Given the description of an element on the screen output the (x, y) to click on. 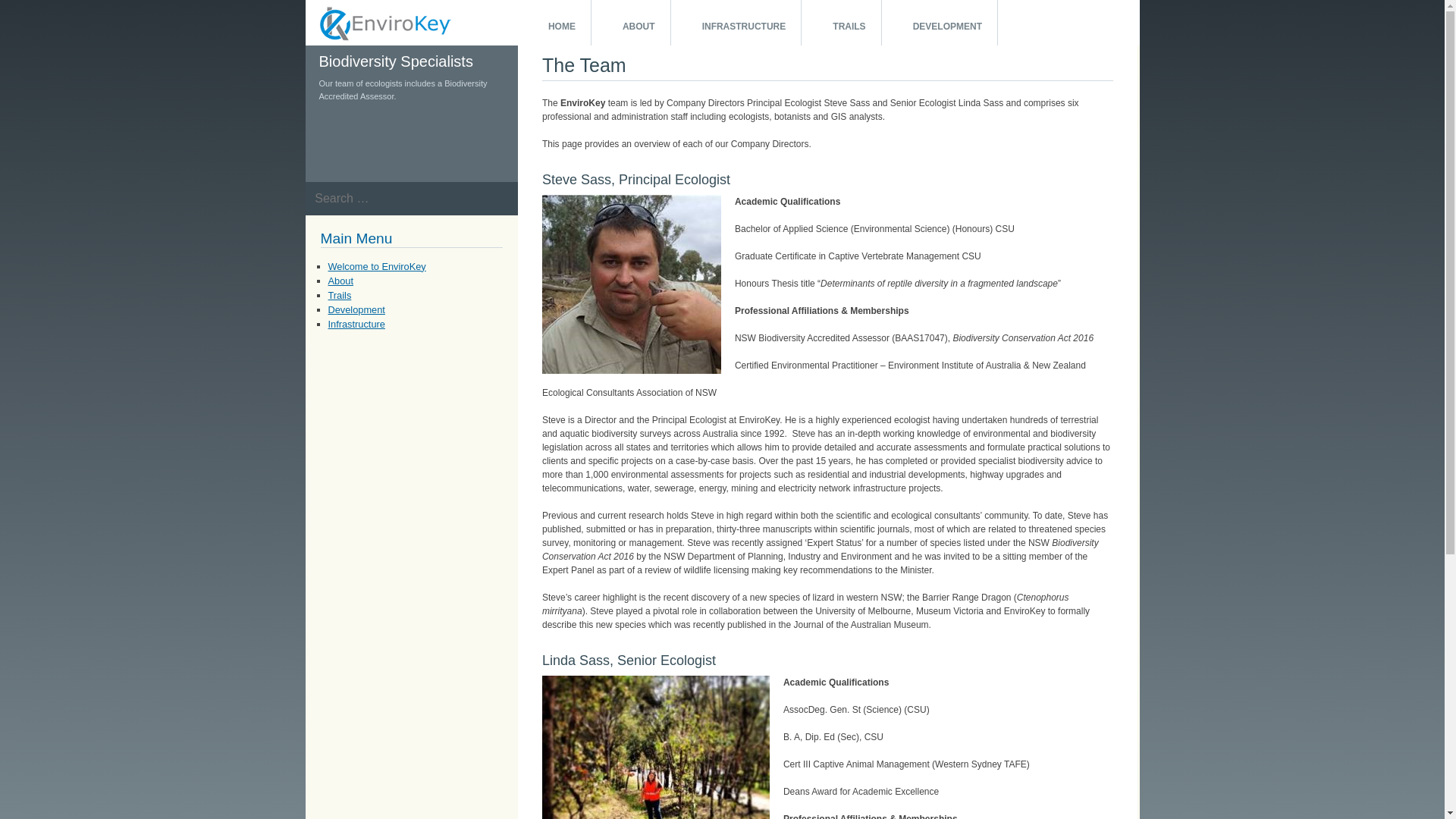
Trails Element type: text (339, 295)
Envirokey Element type: text (324, 57)
About Element type: text (339, 280)
HOME Element type: text (553, 22)
Development Element type: text (355, 309)
Welcome to EnviroKey Element type: text (376, 266)
ABOUT Element type: text (631, 22)
TRAILS Element type: text (841, 22)
Search Element type: text (28, 16)
Infrastructure Element type: text (355, 323)
INFRASTRUCTURE Element type: text (736, 22)
DEVELOPMENT Element type: text (939, 22)
